Given the description of an element on the screen output the (x, y) to click on. 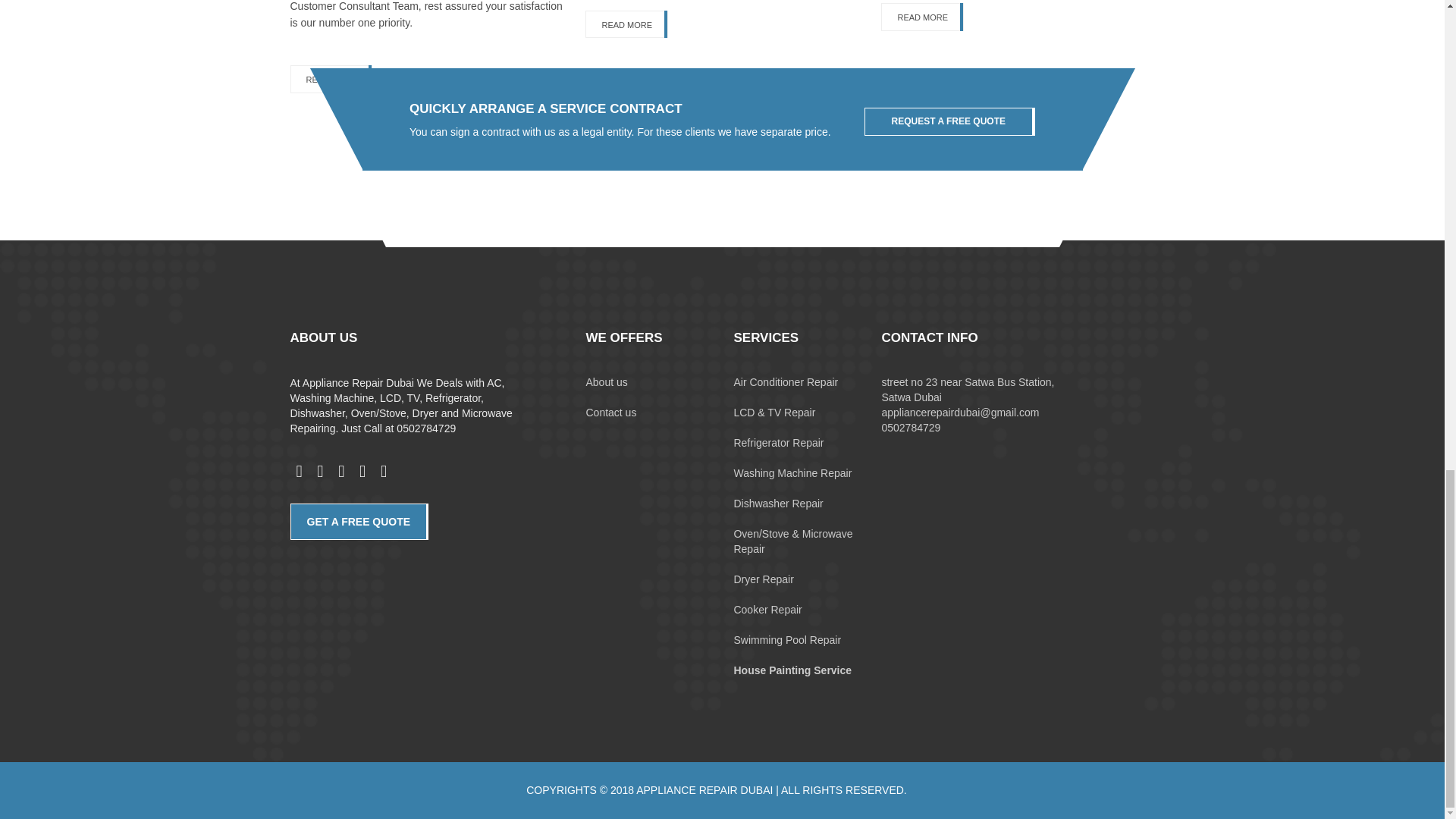
READ MORE (921, 17)
READ MORE (626, 24)
REQUEST A FREE QUOTE (949, 121)
READ MORE (330, 79)
